Given the description of an element on the screen output the (x, y) to click on. 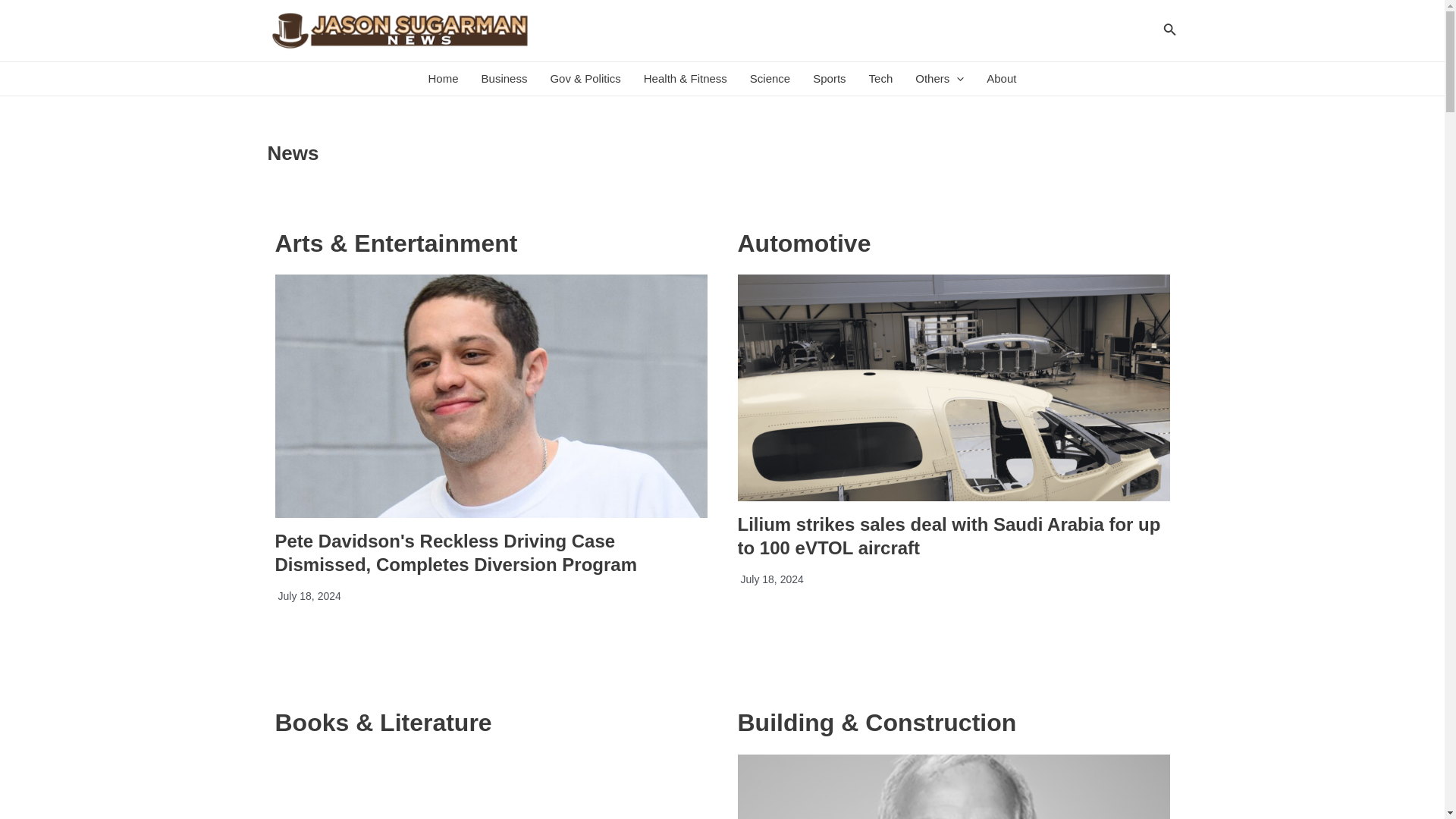
Business (504, 78)
Others (939, 78)
Sports (829, 78)
About (1001, 78)
Science (770, 78)
Home (443, 78)
Tech (880, 78)
